Given the description of an element on the screen output the (x, y) to click on. 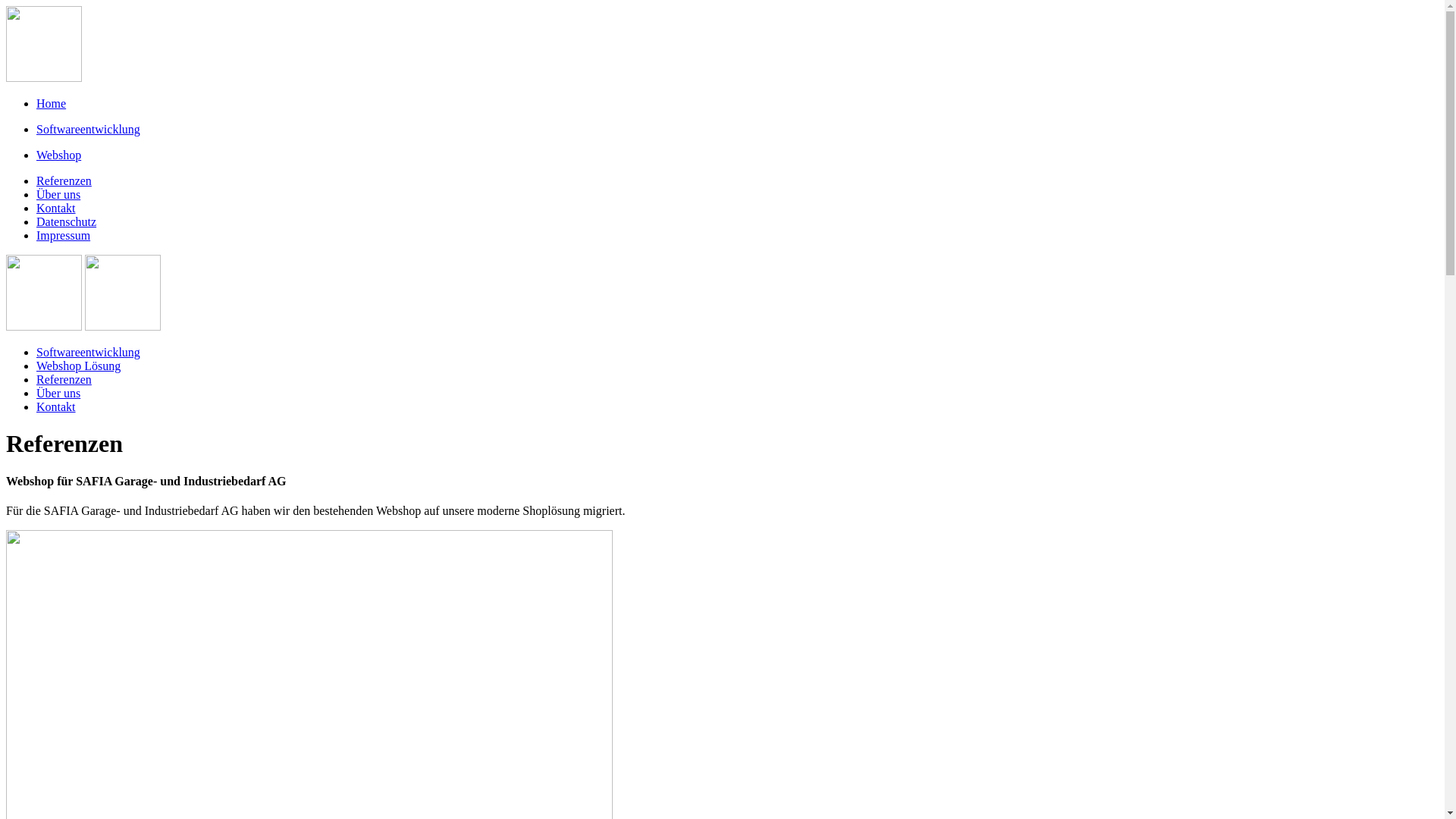
Referenzen Element type: text (63, 180)
Softwareentwicklung Element type: text (88, 128)
Softwareentwicklung Element type: text (88, 351)
Impressum Element type: text (63, 235)
Kontakt Element type: text (55, 406)
Kontakt Element type: text (55, 207)
Referenzen Element type: text (63, 379)
Datenschutz Element type: text (66, 221)
Home Element type: text (50, 103)
Webshop Element type: text (58, 154)
